Given the description of an element on the screen output the (x, y) to click on. 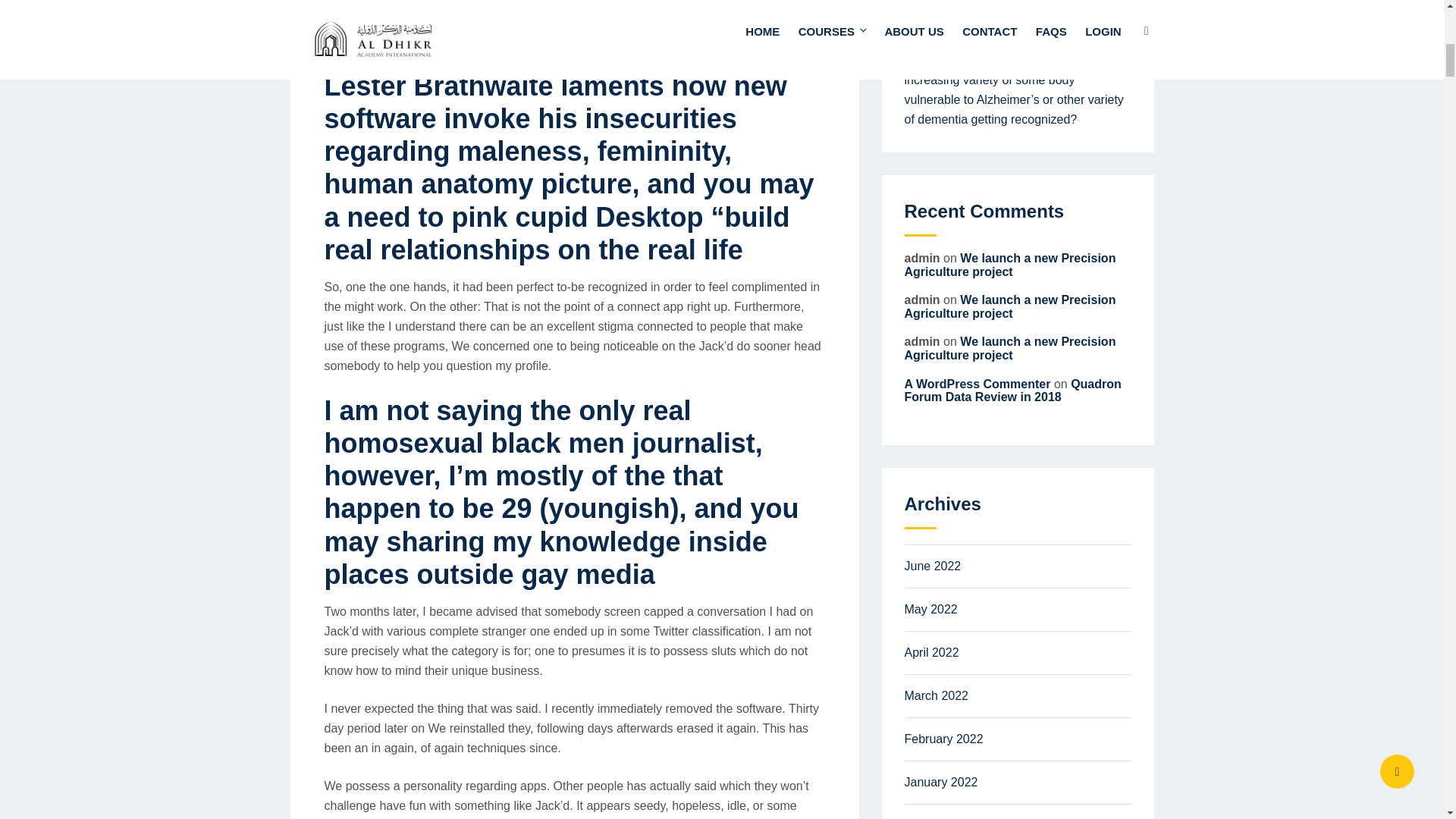
pink cupid Desktop (577, 216)
Prayers For the Partner To strengthen Your Dating (1005, 11)
We launch a new Precision Agriculture project (1009, 264)
